Given the description of an element on the screen output the (x, y) to click on. 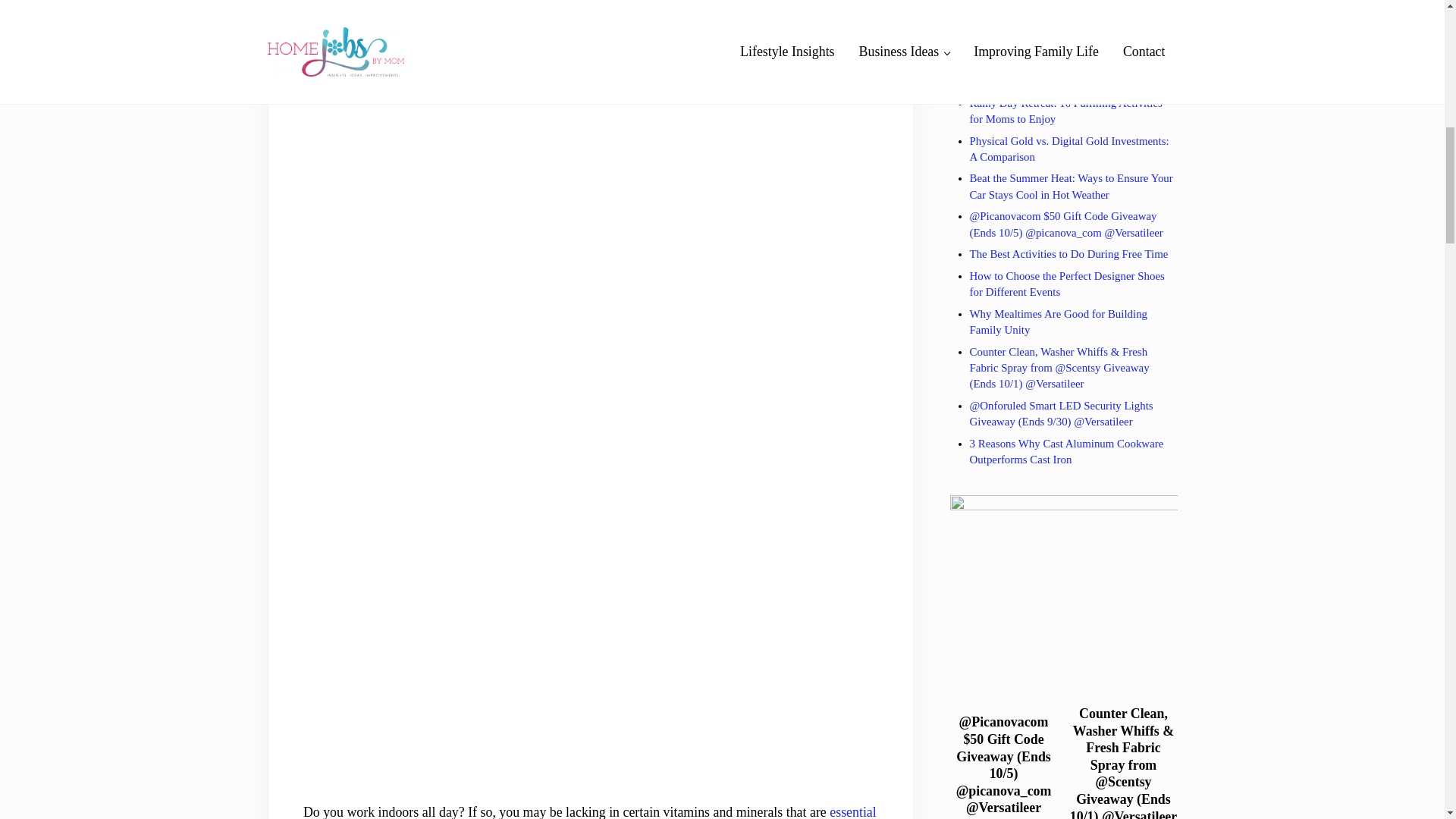
KRYSTLE COOK (447, 9)
essential for your health (589, 811)
40 (386, 72)
